Given the description of an element on the screen output the (x, y) to click on. 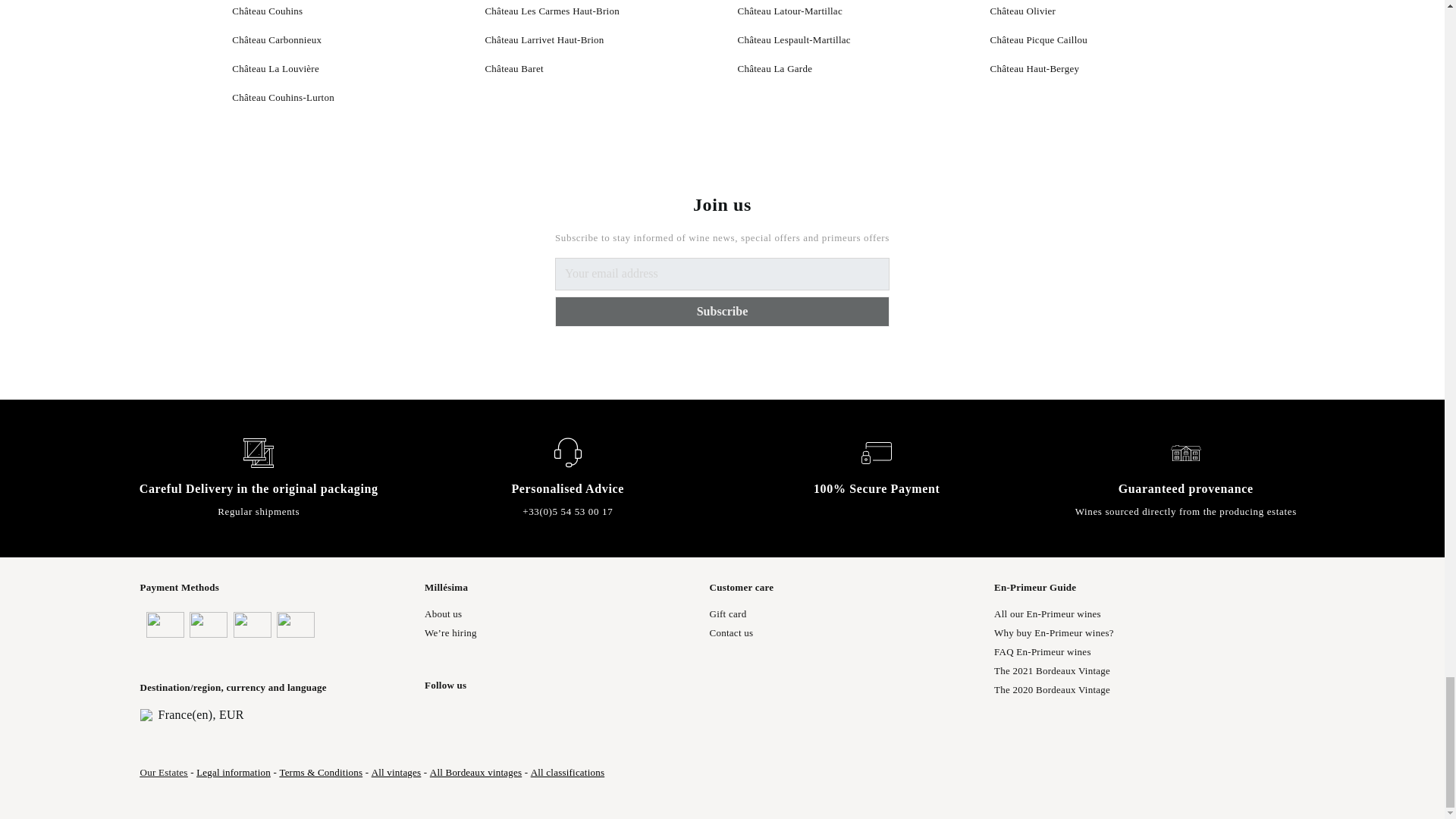
E-mail (721, 273)
